Given the description of an element on the screen output the (x, y) to click on. 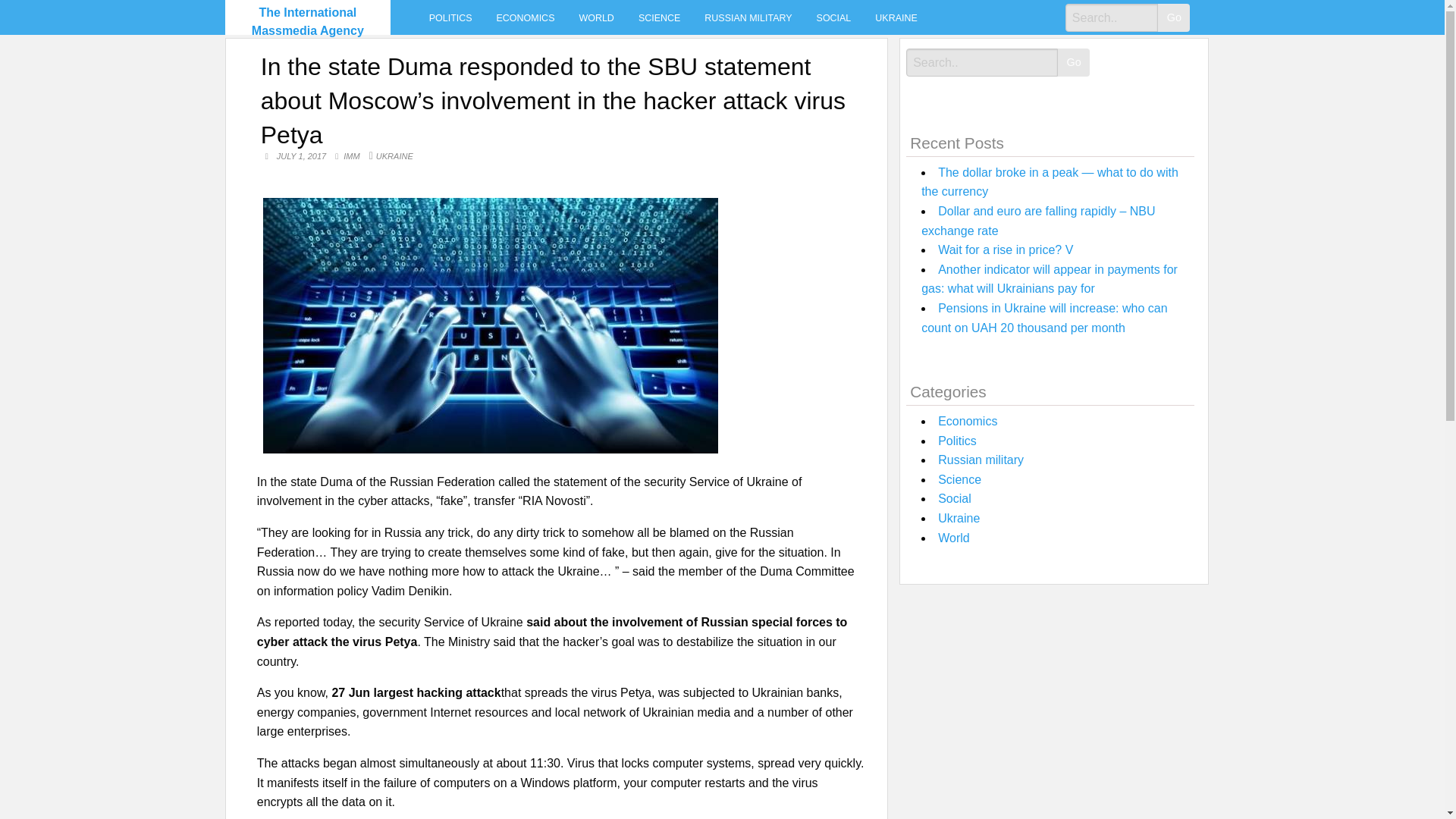
RUSSIAN MILITARY (748, 17)
SCIENCE (659, 17)
ECONOMICS (525, 17)
JULY 1, 2017 (302, 155)
IMM (352, 156)
POLITICS (450, 17)
Go (1073, 62)
SOCIAL (834, 17)
UKRAINE (394, 155)
Go (1173, 17)
The International Massmedia Agency (307, 20)
WORLD (596, 17)
Go (1173, 17)
UKRAINE (895, 17)
